Given the description of an element on the screen output the (x, y) to click on. 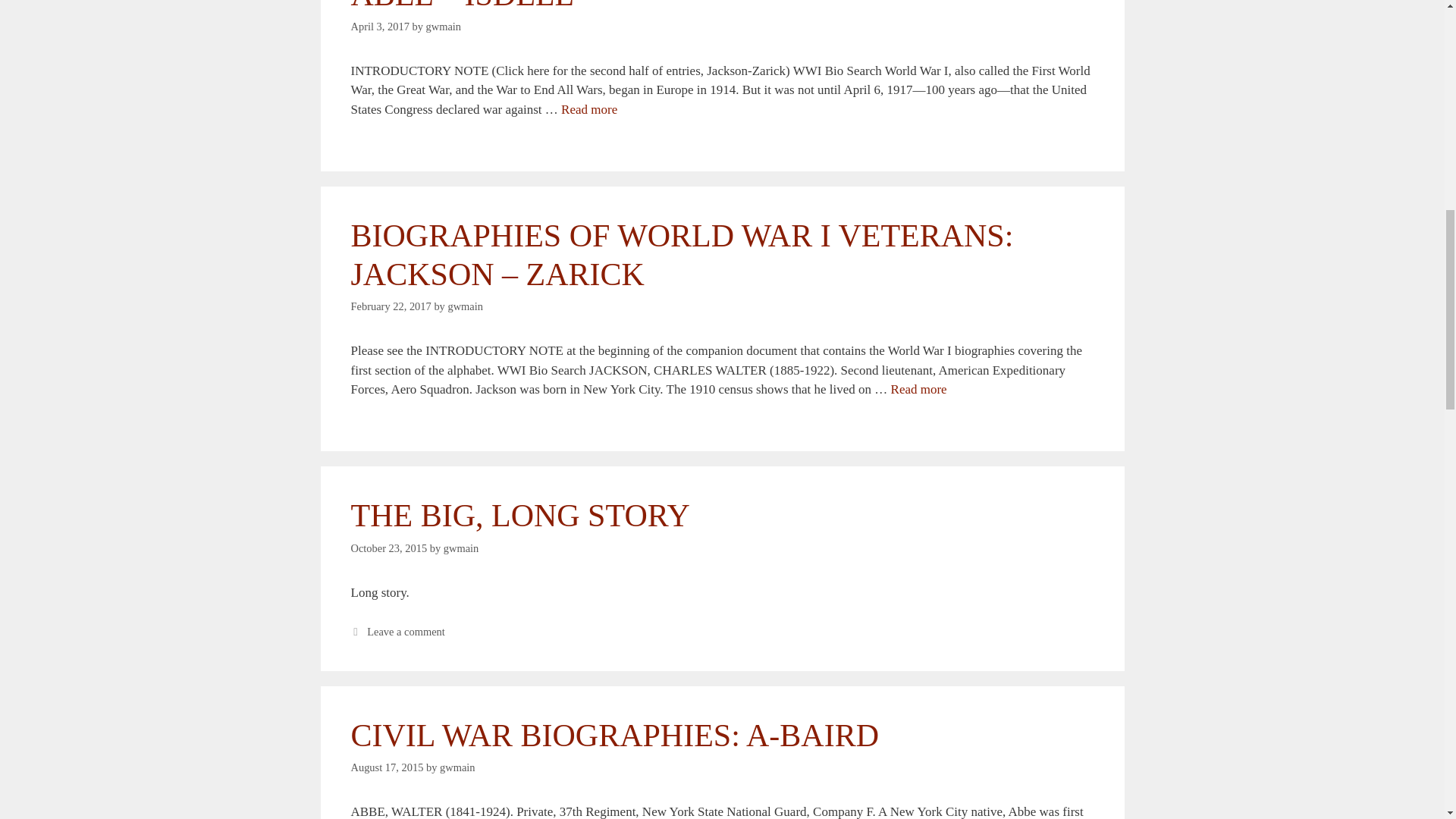
View all posts by gwmain (461, 548)
View all posts by gwmain (443, 26)
View all posts by gwmain (457, 767)
View all posts by gwmain (464, 306)
